Given the description of an element on the screen output the (x, y) to click on. 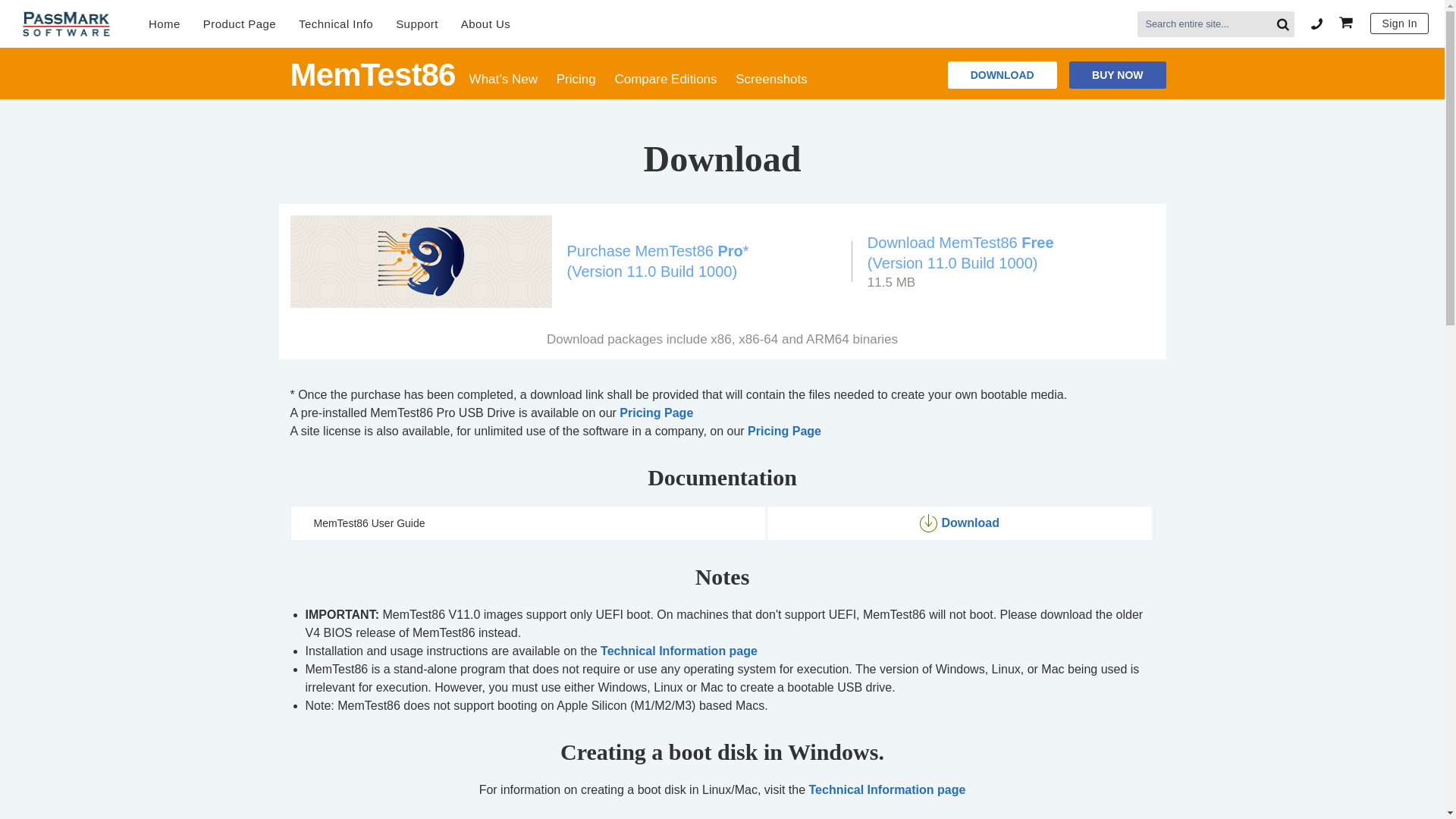
About Us (485, 23)
Home (164, 23)
Pricing (575, 79)
Technical Information page (678, 650)
Product Page (239, 23)
Pricing Page (656, 412)
Sign In (1399, 22)
Download (958, 523)
Technical Information page (887, 789)
Screenshots (771, 79)
DOWNLOAD (1002, 73)
Pricing Page (784, 431)
Technical Info (335, 23)
Compare Editions (665, 79)
MemTest86 (371, 74)
